Given the description of an element on the screen output the (x, y) to click on. 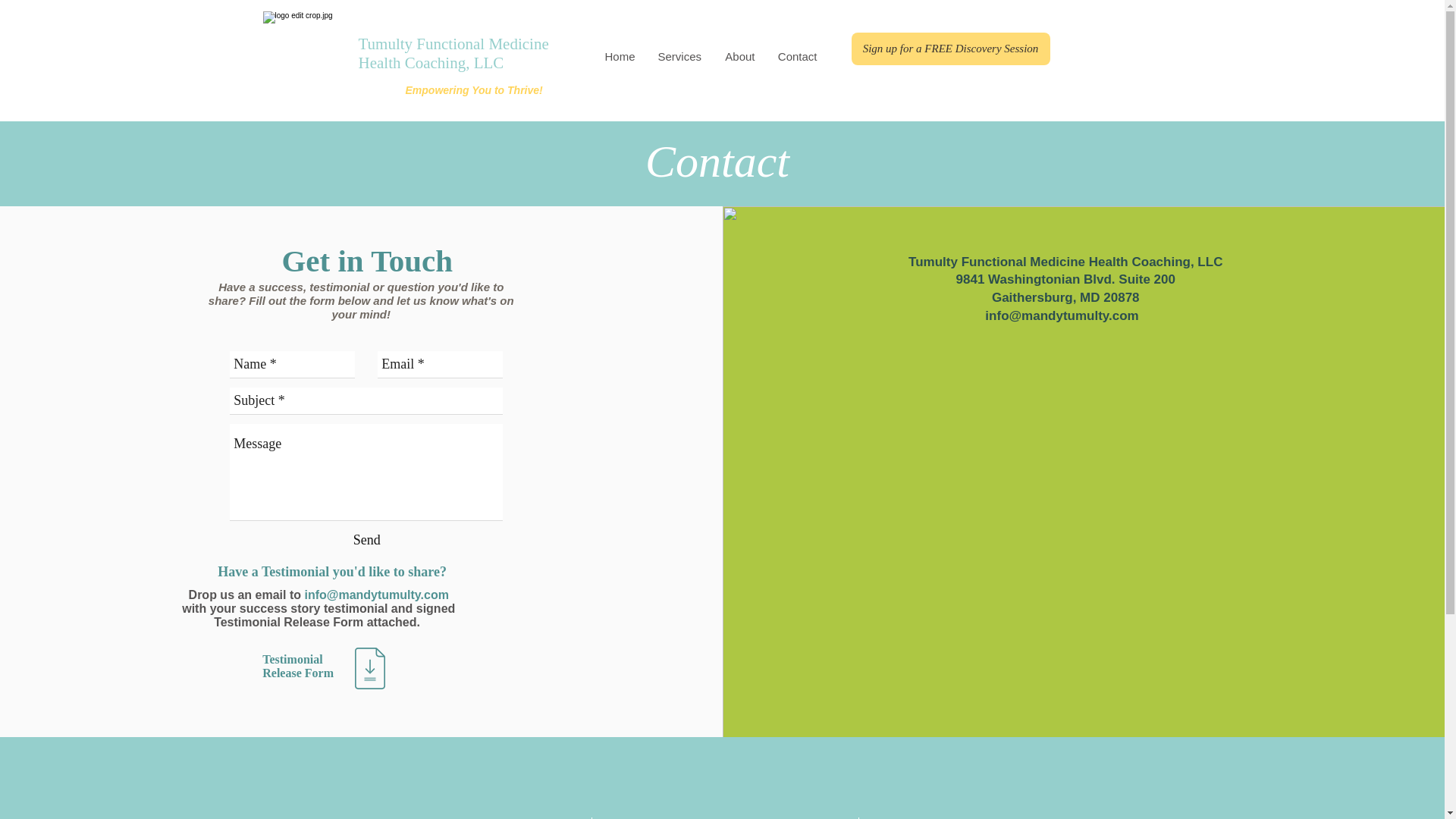
Sign up for a FREE Discovery Session (949, 48)
Services (678, 56)
Contact (796, 56)
Send (366, 539)
Home (618, 56)
About (738, 56)
Tumulty Functional Medicine Health Coaching, LLC (453, 53)
